Given the description of an element on the screen output the (x, y) to click on. 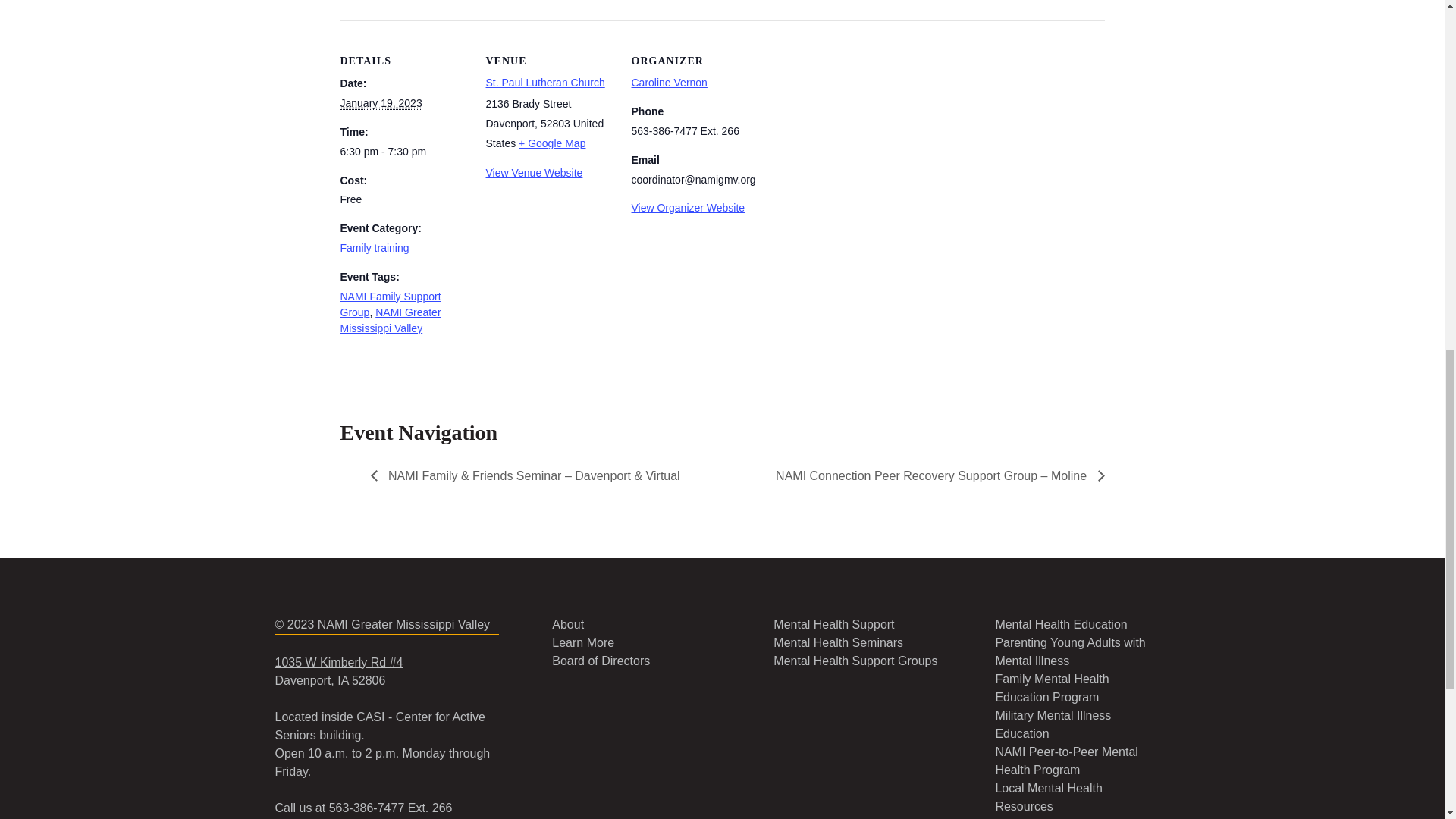
2023-01-19 (380, 103)
2023-01-19 (403, 151)
Click to view a Google Map (551, 143)
Caroline Vernon (668, 82)
